Given the description of an element on the screen output the (x, y) to click on. 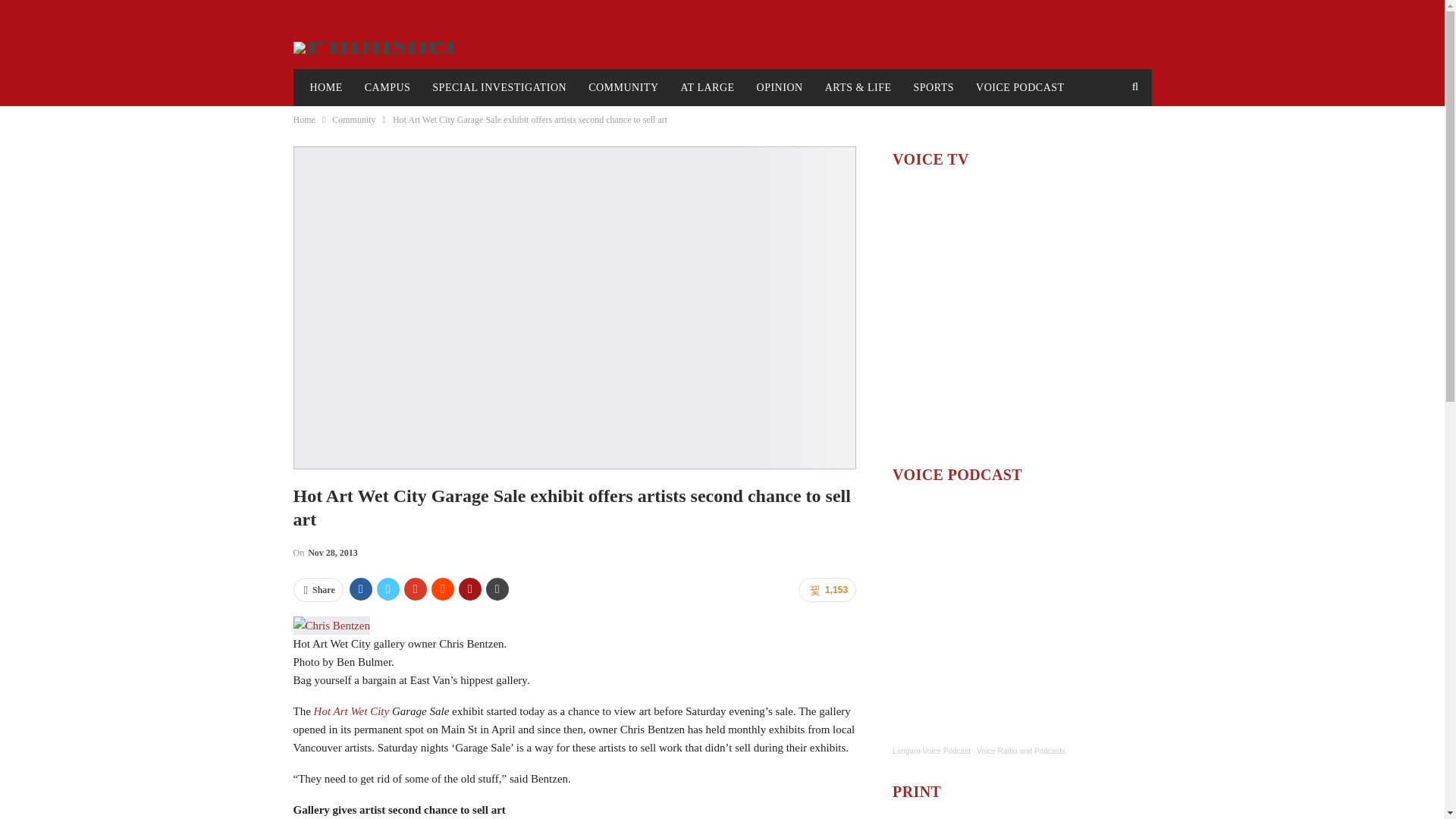
HOME (324, 87)
CAMPUS (387, 87)
COMMUNITY (622, 87)
VOICE PODCAST (1020, 87)
Community (353, 119)
SPECIAL INVESTIGATION (499, 87)
Voice Radio and Podcasts (1020, 750)
AT LARGE (707, 87)
Hot Art Wet City (352, 711)
YouTube video player (1021, 315)
OPINION (780, 87)
SPORTS (933, 87)
Home (303, 119)
Langara Voice Podcast (931, 750)
